Given the description of an element on the screen output the (x, y) to click on. 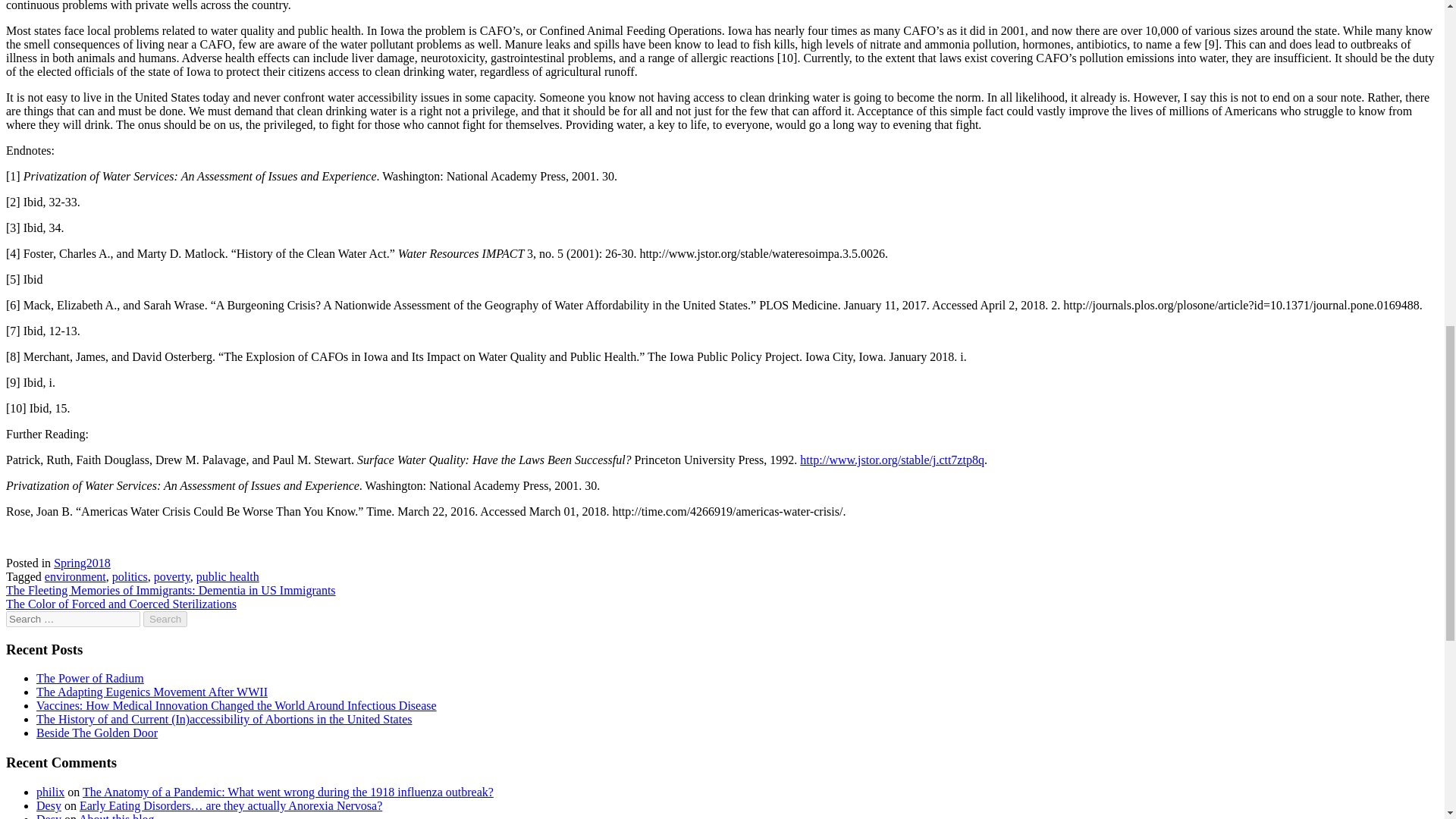
Desy (48, 816)
The Color of Forced and Coerced Sterilizations (120, 603)
Search (164, 618)
politics (130, 576)
Desy (48, 805)
philix (50, 791)
The Power of Radium (90, 677)
environment (75, 576)
poverty (172, 576)
public health (227, 576)
The Adapting Eugenics Movement After WWII (151, 691)
Spring2018 (81, 562)
Beside The Golden Door (96, 732)
